Given the description of an element on the screen output the (x, y) to click on. 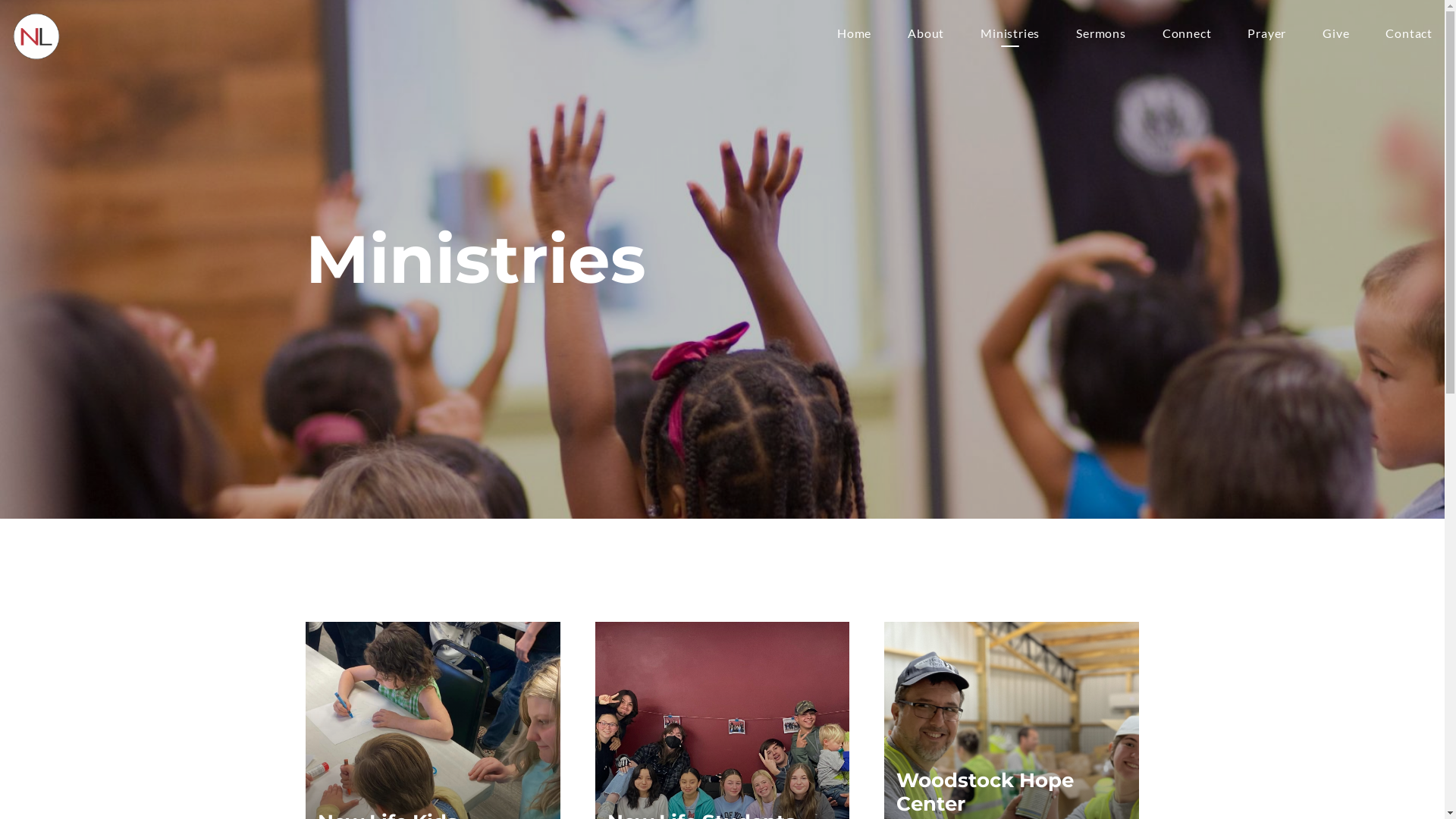
About Element type: text (925, 36)
Contact Element type: text (1408, 36)
Ministries Element type: text (1009, 36)
Home Element type: text (854, 36)
Give Element type: text (1335, 36)
Connect Element type: text (1186, 36)
Sermons Element type: text (1101, 36)
Prayer Element type: text (1266, 36)
